Given the description of an element on the screen output the (x, y) to click on. 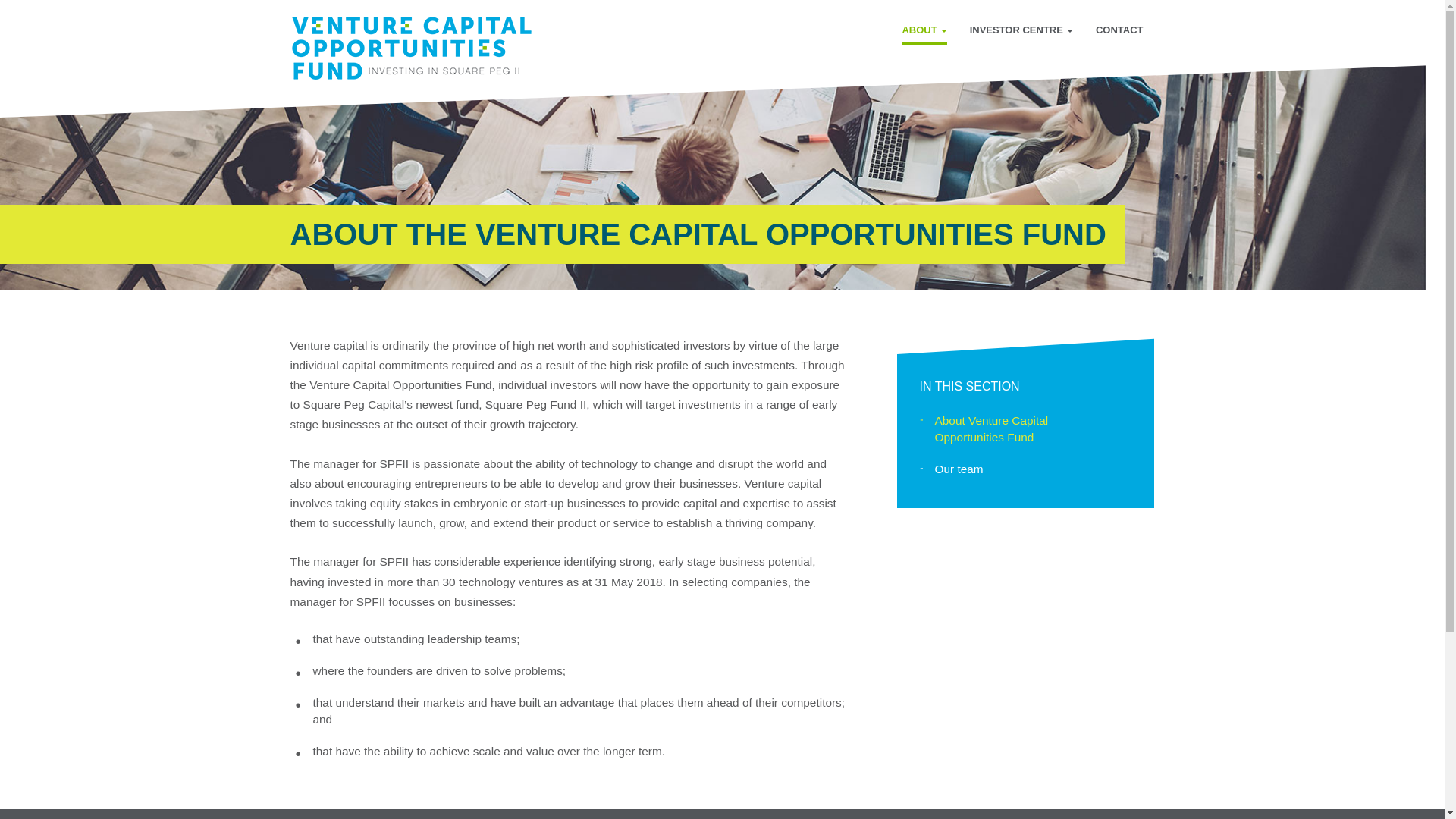
ABOUT (923, 32)
CONTACT (1119, 32)
INVESTOR CENTRE (1021, 32)
Our team (1024, 469)
Home (416, 48)
About Venture Capital Opportunities Fund (1024, 428)
